Given the description of an element on the screen output the (x, y) to click on. 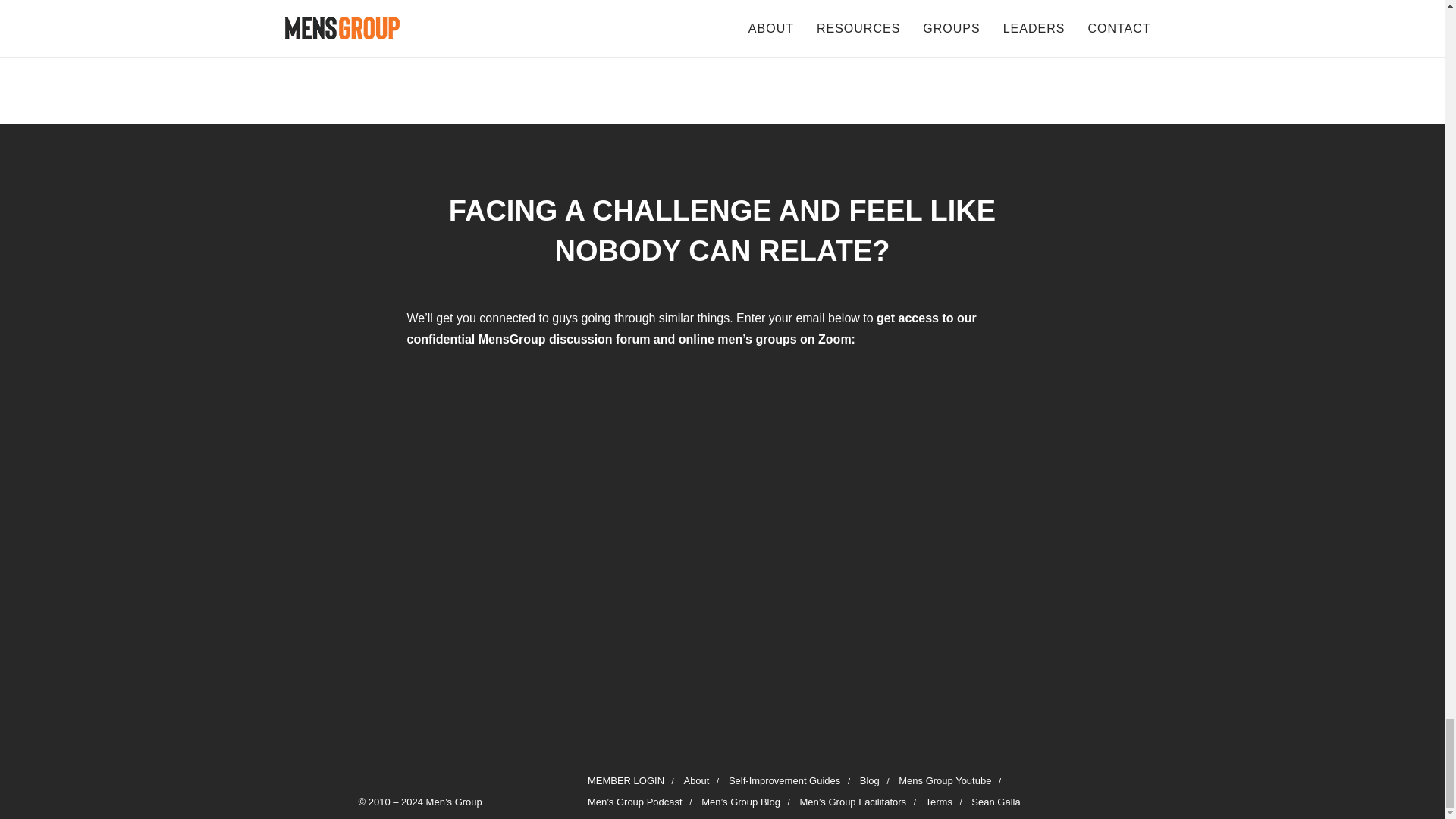
MEMBER LOGIN (625, 780)
Sean Galla (995, 801)
Mens Group Youtube (944, 780)
Self-Improvement Guides (784, 780)
Blog (869, 780)
Terms (939, 801)
About (695, 780)
